Given the description of an element on the screen output the (x, y) to click on. 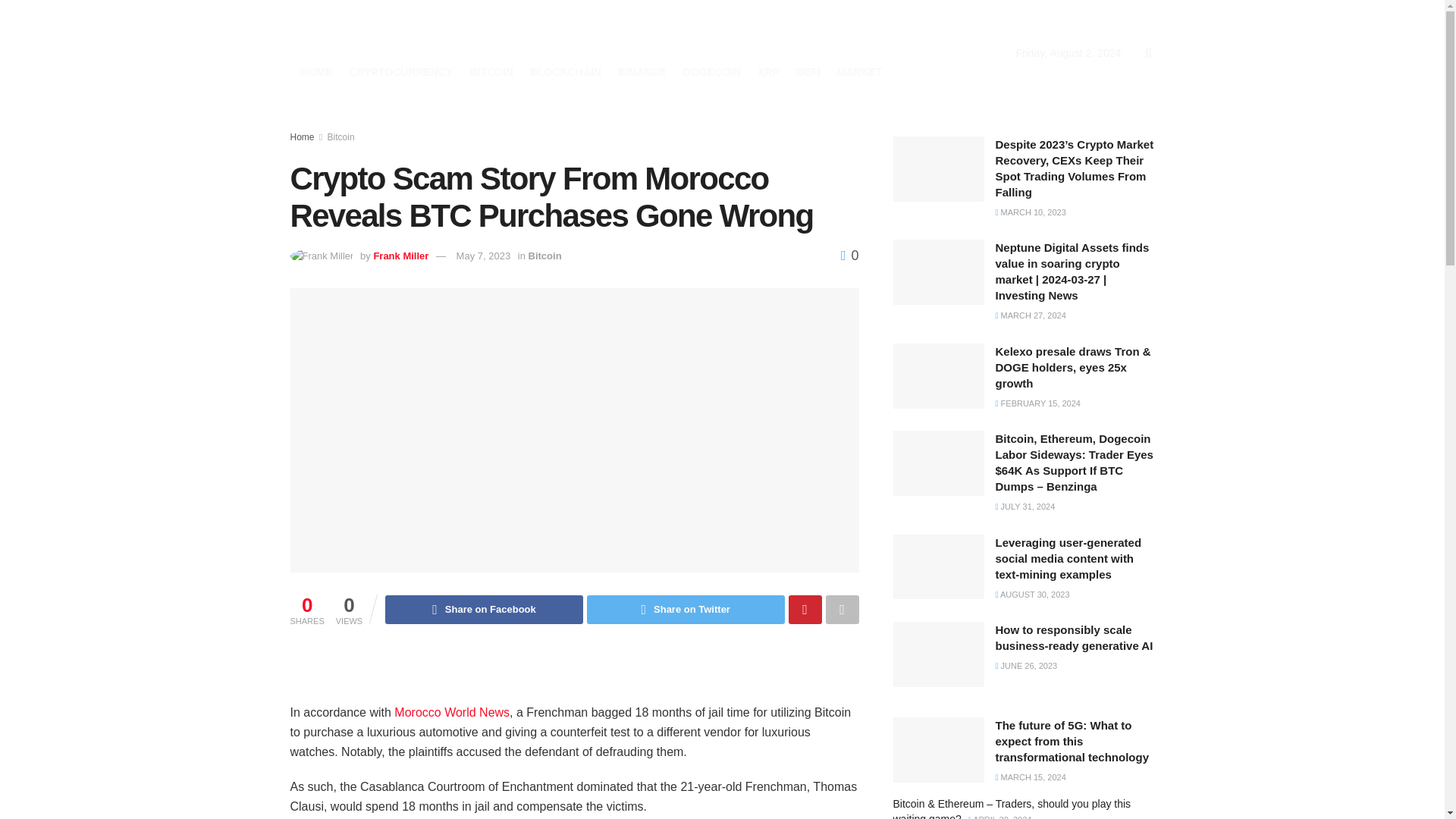
HOME (315, 71)
BINANCE (641, 71)
CRYPTOCURRENCY (400, 71)
May 7, 2023 (484, 255)
DOGECOIN (711, 71)
Home (301, 136)
Morocco World News (451, 712)
BITCOIN (490, 71)
Bitcoin (545, 255)
DEFI MAGNETS (426, 34)
